Given the description of an element on the screen output the (x, y) to click on. 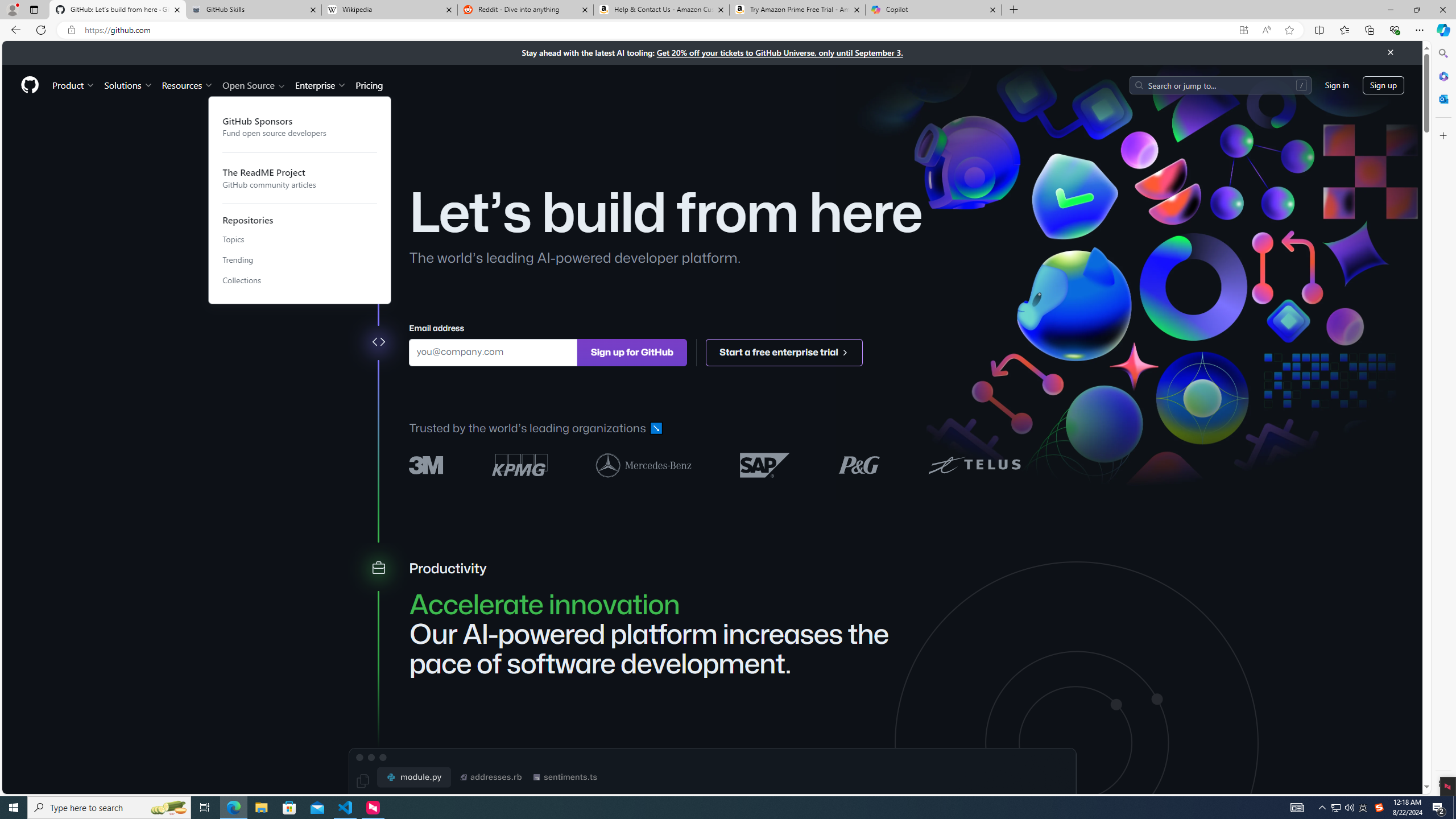
Sign up for GitHub (631, 352)
Enterprise (319, 84)
Pricing (368, 84)
GitHub SponsorsFund open source developers (299, 126)
The ReadME Project GitHub community articles (299, 177)
Resources (187, 84)
Sign up (1382, 84)
Open Source (254, 84)
Try Amazon Prime Free Trial - Amazon Customer Service (797, 9)
